Given the description of an element on the screen output the (x, y) to click on. 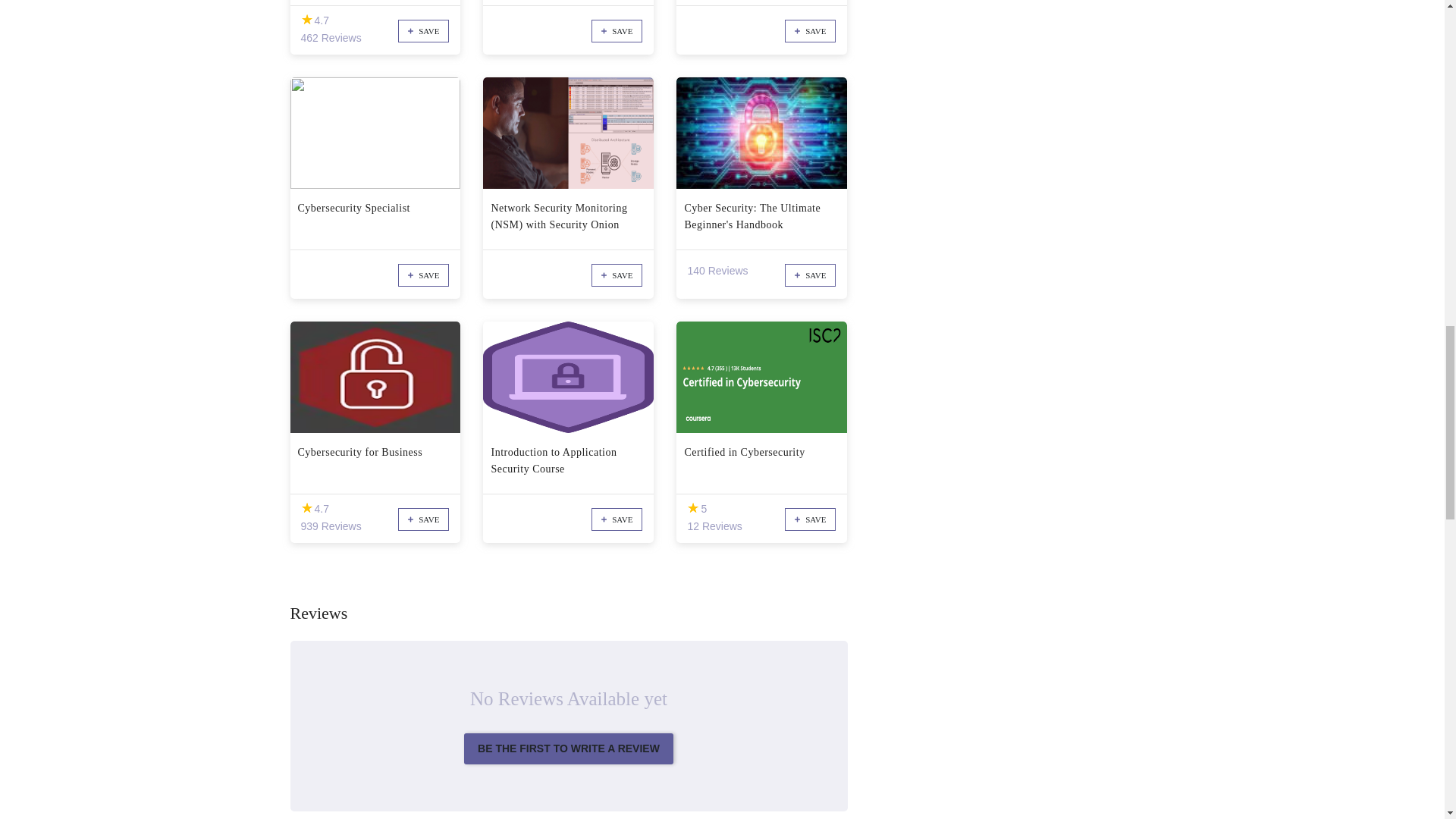
4.7 (306, 19)
5 (692, 508)
4.7 (306, 508)
